Given the description of an element on the screen output the (x, y) to click on. 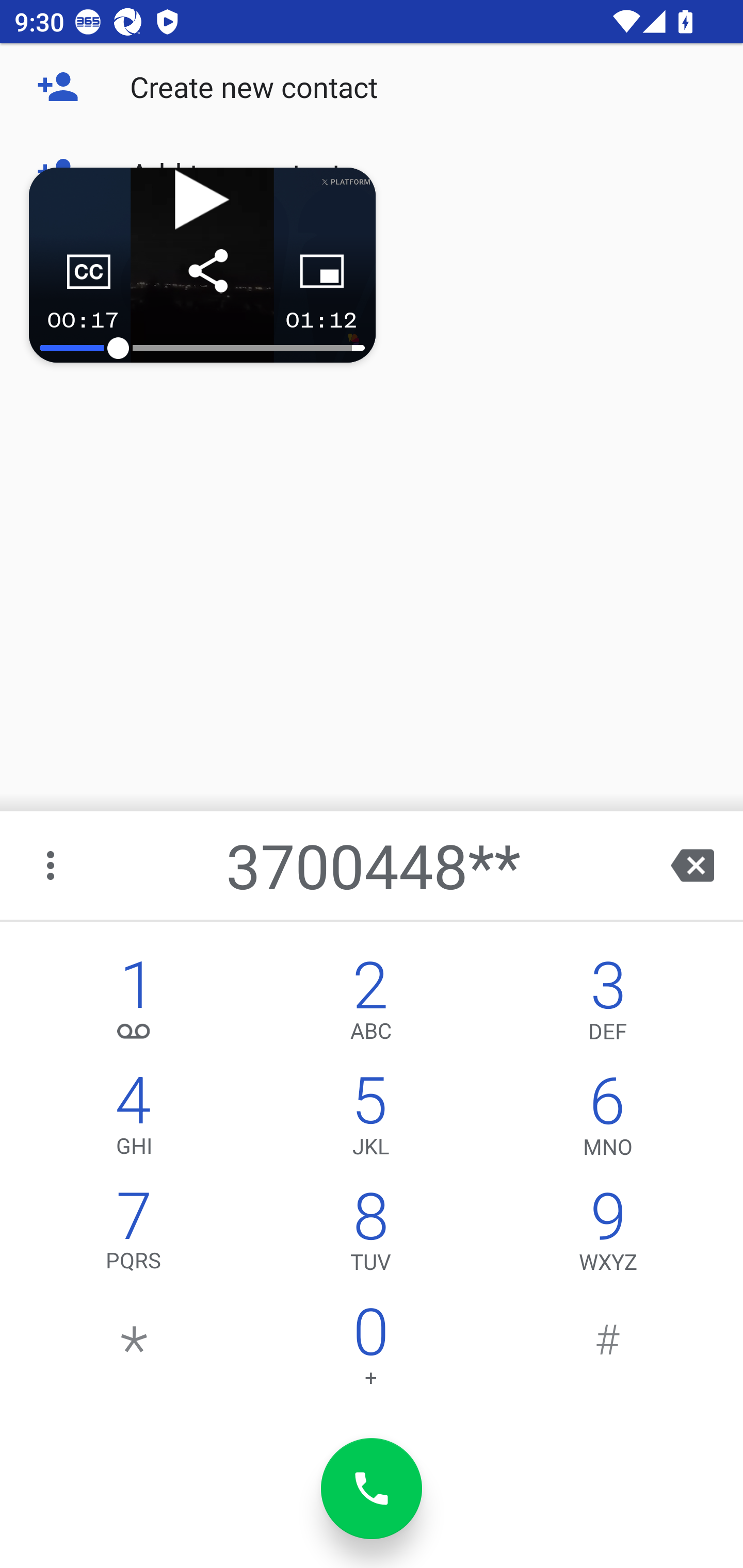
Create new contact (371, 86)
3700448** (372, 865)
backspace (692, 865)
More options (52, 865)
1, 1 (133, 1005)
2,ABC 2 ABC (370, 1005)
3,DEF 3 DEF (607, 1005)
4,GHI 4 GHI (133, 1120)
5,JKL 5 JKL (370, 1120)
6,MNO 6 MNO (607, 1120)
7,PQRS 7 PQRS (133, 1235)
8,TUV 8 TUV (370, 1235)
9,WXYZ 9 WXYZ (607, 1235)
* (133, 1351)
0 0 + (370, 1351)
# (607, 1351)
dial (371, 1488)
